Given the description of an element on the screen output the (x, y) to click on. 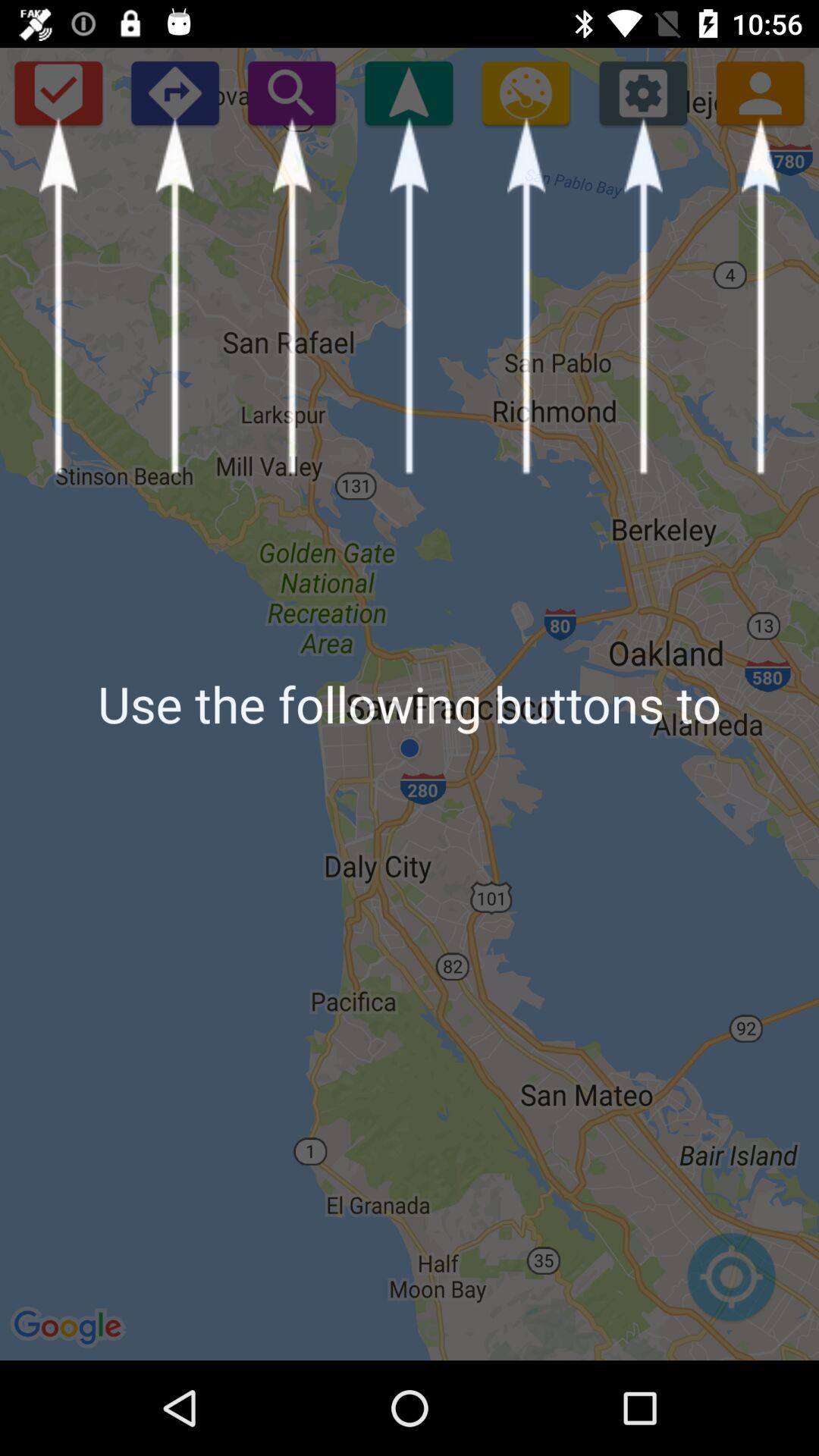
click item above use the following icon (760, 92)
